Given the description of an element on the screen output the (x, y) to click on. 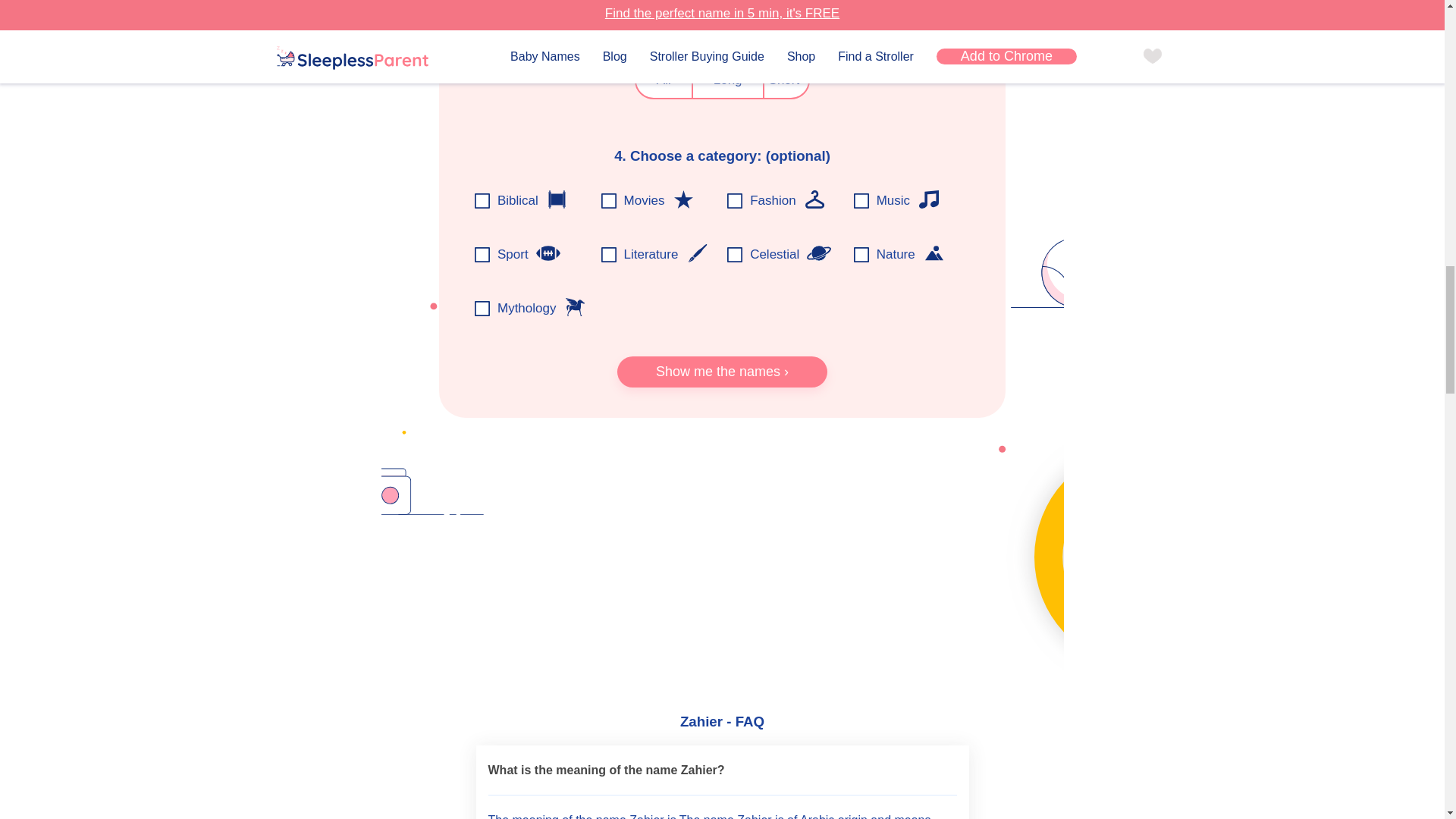
Sport (547, 253)
Mythology (575, 307)
Celestial (818, 253)
Movies (683, 199)
Biblical (557, 199)
Literature (696, 253)
Nature (933, 253)
Music (928, 199)
Fashion (814, 199)
